Given the description of an element on the screen output the (x, y) to click on. 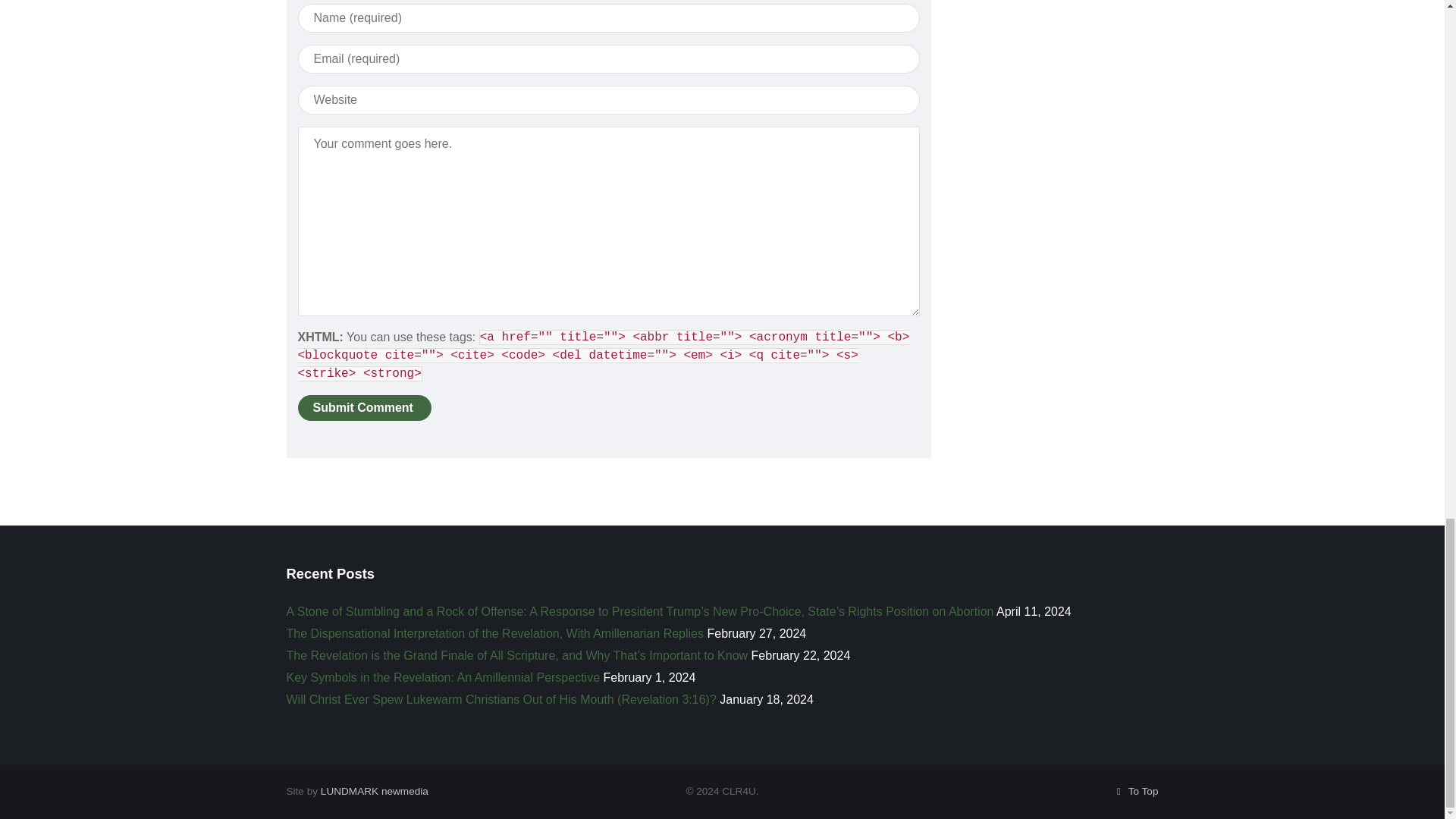
To Top (1135, 790)
LUNDMARK newmedia (374, 790)
LUNDMARK newmedia (374, 790)
Key Symbols in the Revelation: An Amillennial Perspective (442, 676)
Submit Comment (363, 406)
Submit Comment (363, 406)
